Given the description of an element on the screen output the (x, y) to click on. 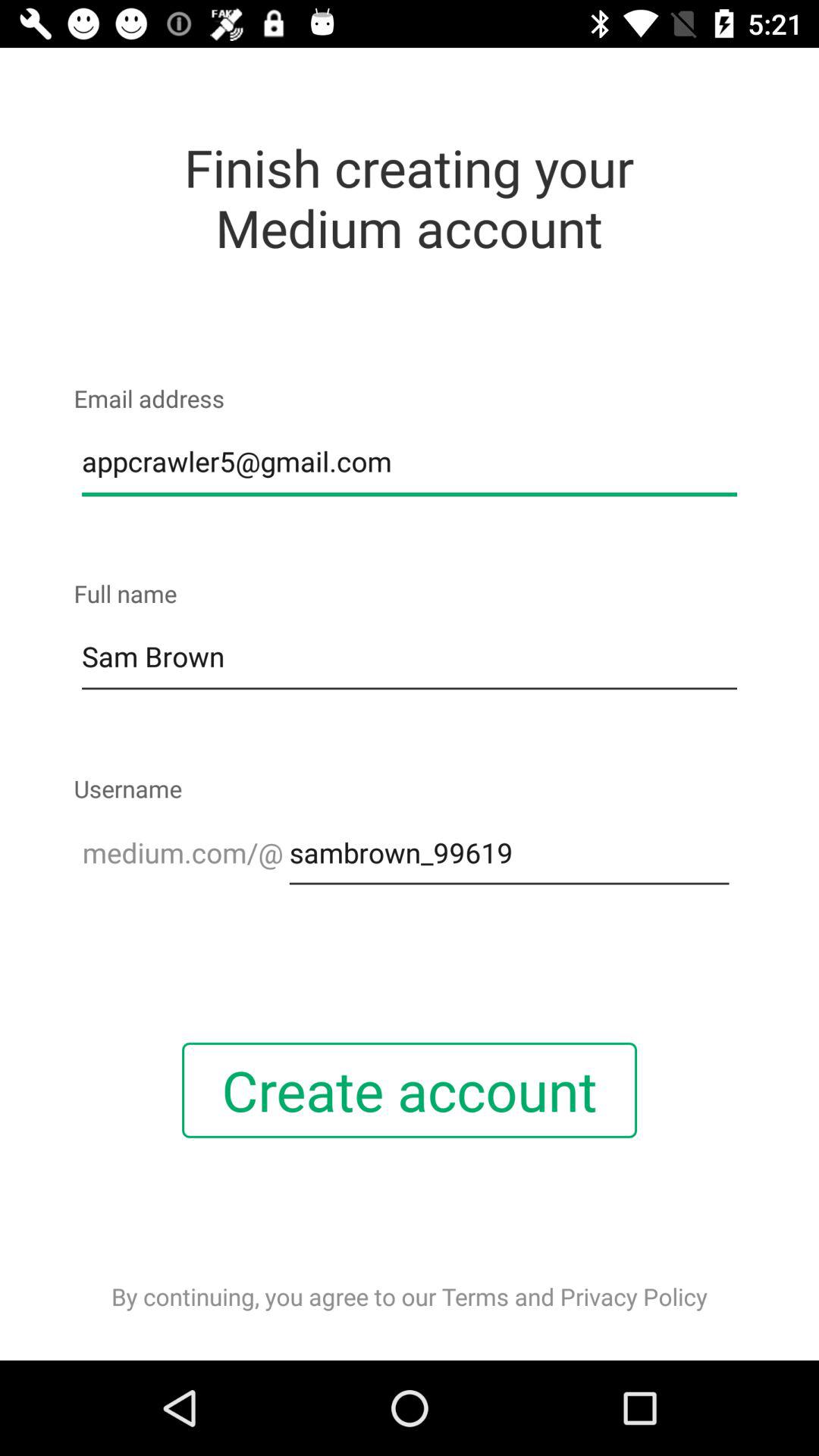
open the sam brown item (409, 657)
